Given the description of an element on the screen output the (x, y) to click on. 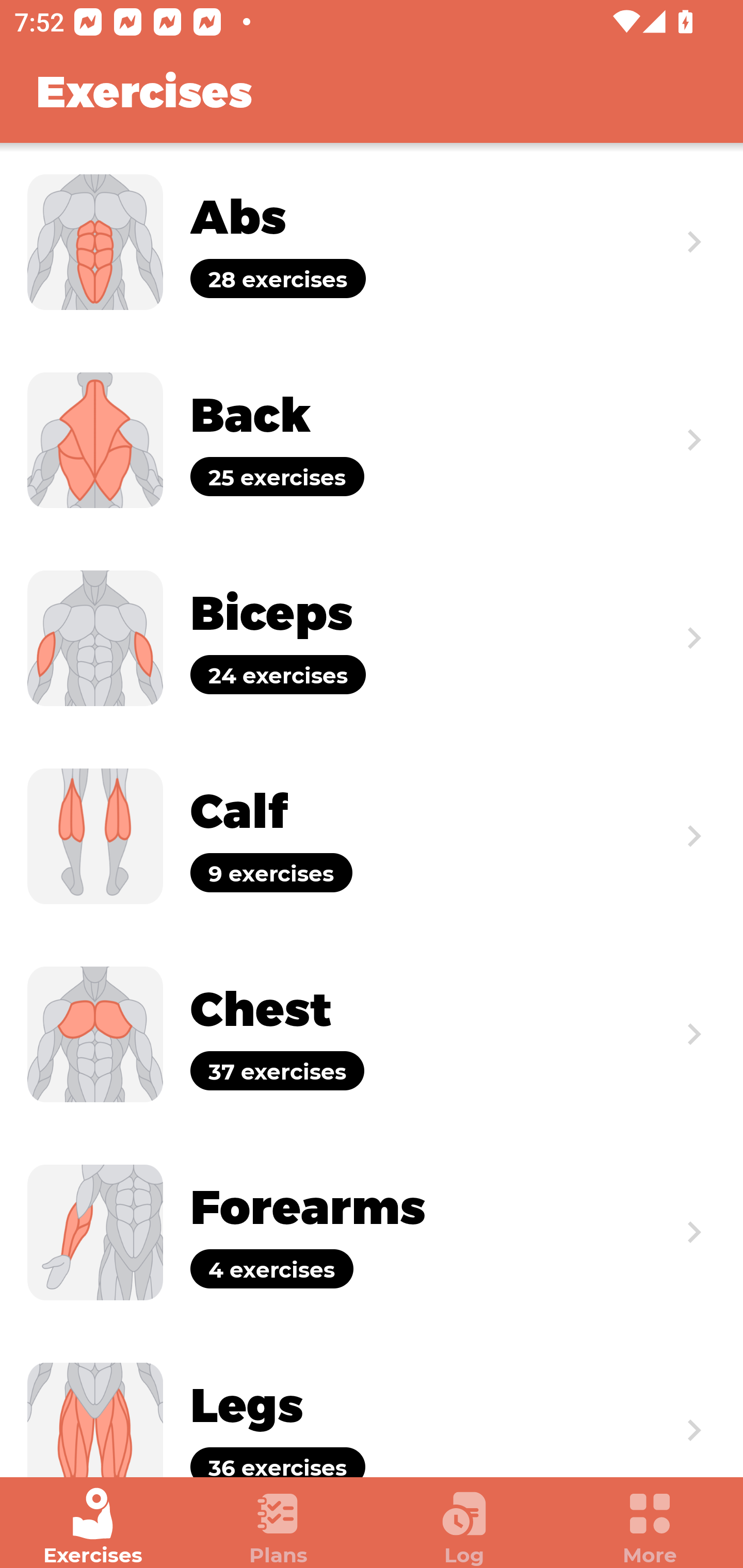
Exercise Abs 28 exercises (371, 241)
Exercise Back 25 exercises (371, 439)
Exercise Biceps 24 exercises (371, 637)
Exercise Calf 9 exercises (371, 836)
Exercise Chest 37 exercises (371, 1033)
Exercise Forearms 4 exercises (371, 1232)
Exercise Legs 36 exercises (371, 1404)
Exercises (92, 1527)
Plans (278, 1527)
Log (464, 1527)
More (650, 1527)
